Given the description of an element on the screen output the (x, y) to click on. 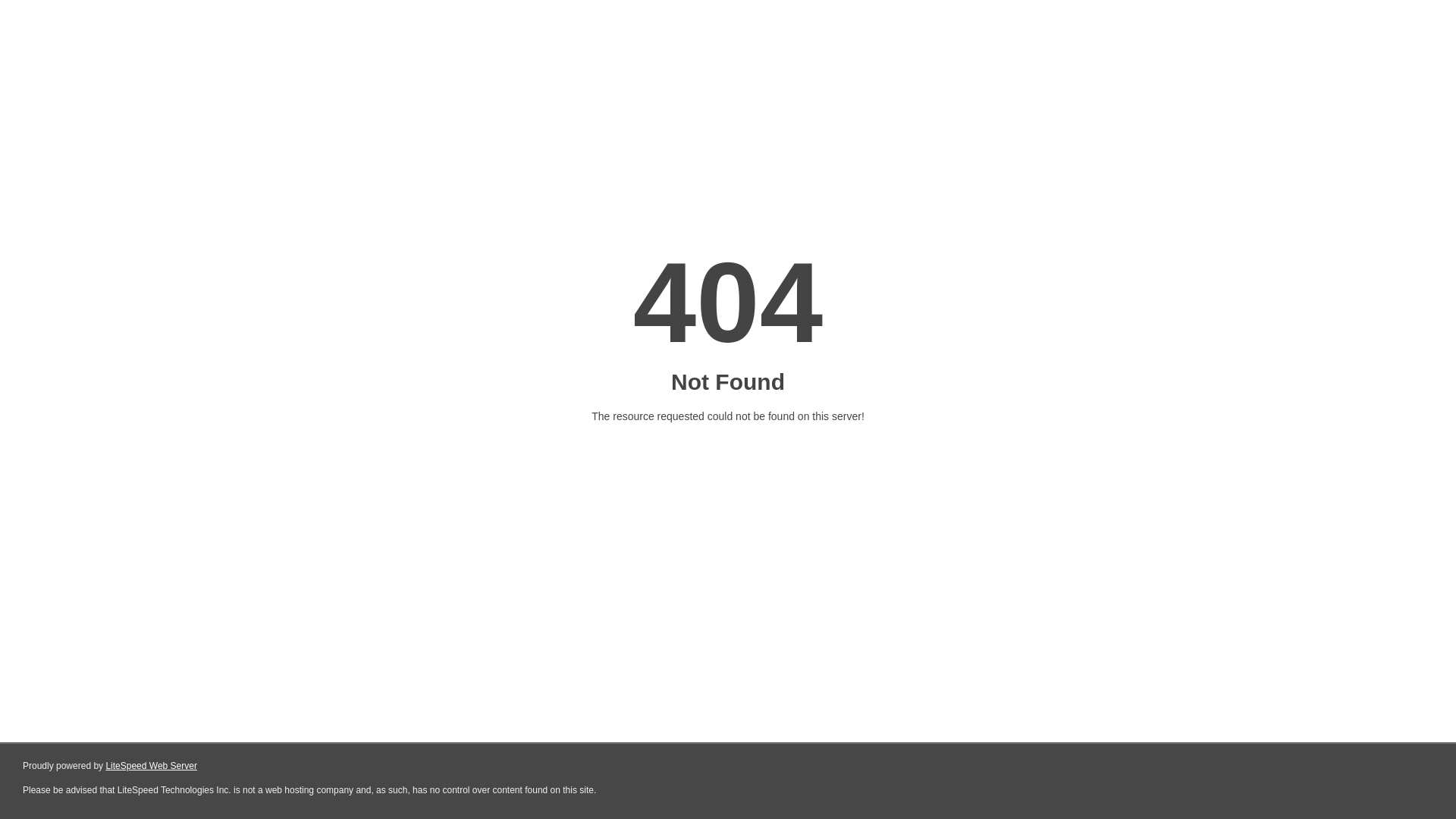
LiteSpeed Web Server Element type: text (151, 765)
